Given the description of an element on the screen output the (x, y) to click on. 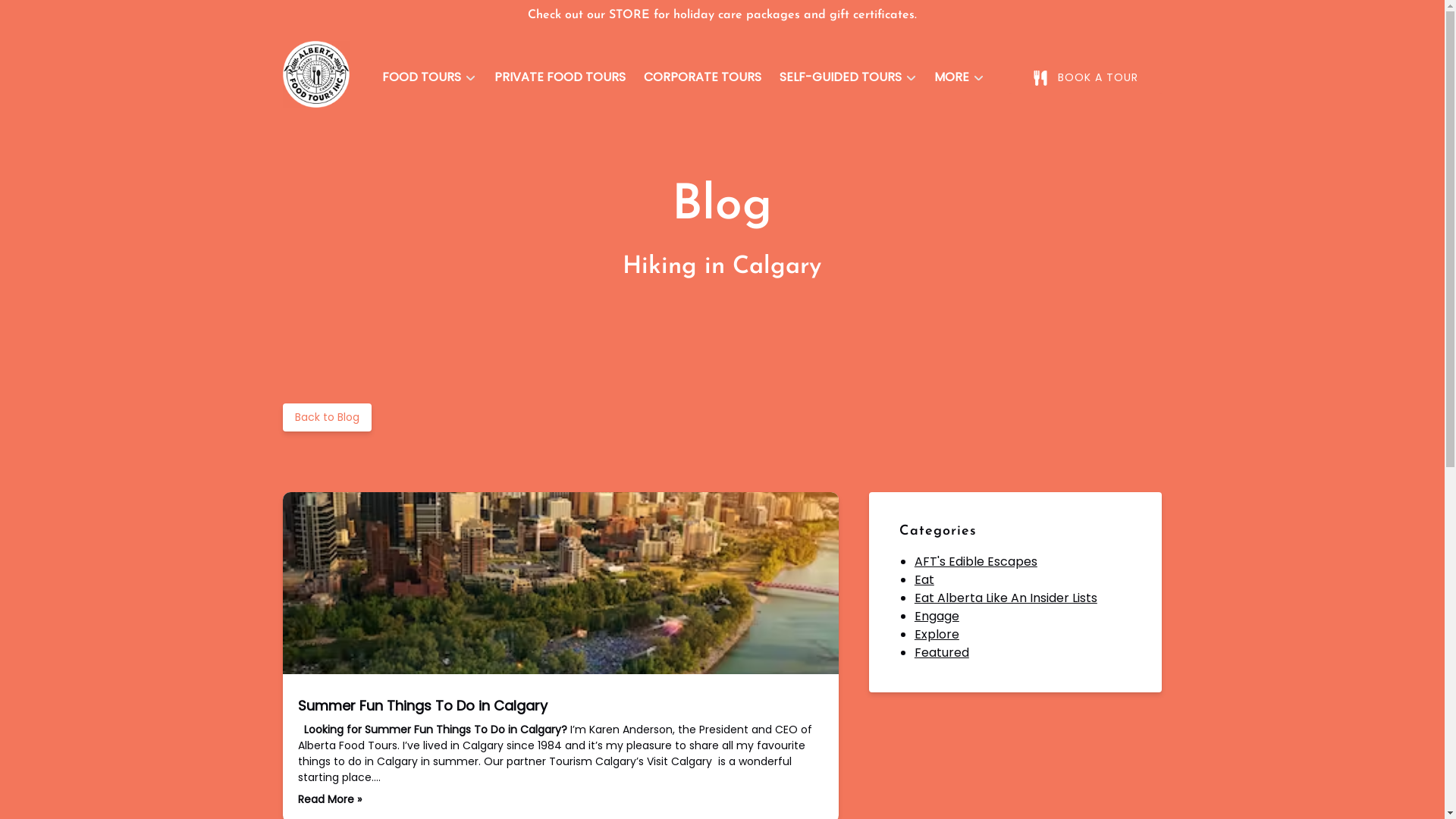
Skip to footer Element type: text (47, 16)
Eat Element type: text (924, 579)
SELF-GUIDED TOURS Element type: text (847, 77)
Eat Alberta Like An Insider Lists Element type: text (1005, 597)
Featured Element type: text (941, 652)
Skip to content Element type: text (53, 16)
CORPORATE TOURS Element type: text (701, 77)
Summer Fun Things To Do in Calgary Element type: text (421, 705)
FOOD BOOK A TOUR Element type: text (1085, 77)
AFT's Edible Escapes Element type: text (975, 561)
Engage Element type: text (936, 615)
Skip to primary navigation Element type: text (85, 16)
Back to Blog Element type: text (326, 417)
Explore Element type: text (936, 634)
MORE Element type: text (959, 77)
FOOD TOURS Element type: text (429, 77)
PRIVATE FOOD TOURS Element type: text (559, 77)
